Given the description of an element on the screen output the (x, y) to click on. 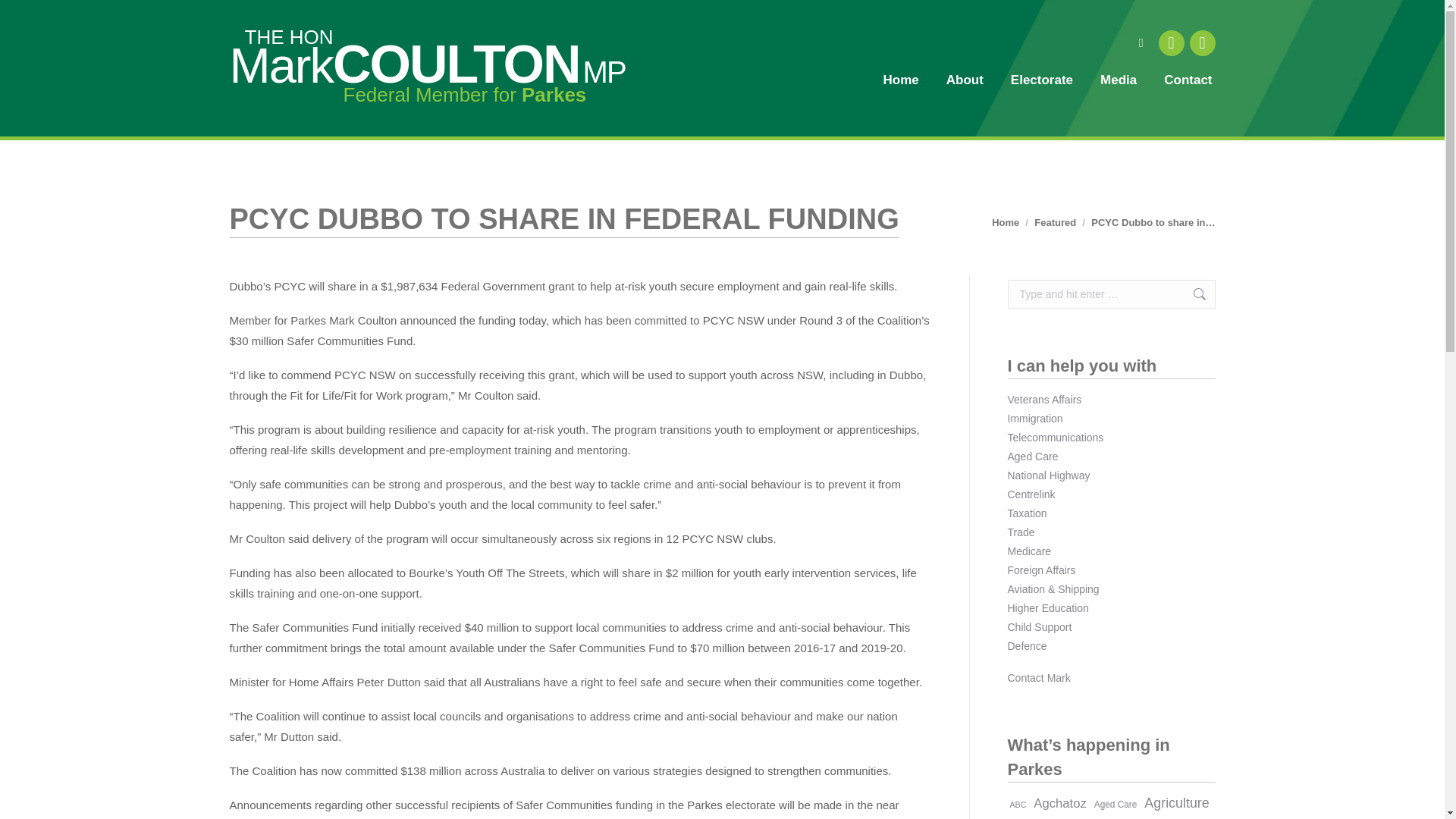
Mail page opens in new window (1201, 43)
Mail page opens in new window (1201, 43)
Home (1005, 222)
Facebook page opens in new window (1171, 43)
Go! (1191, 294)
Go! (24, 16)
Featured (1054, 222)
Go! (1191, 294)
Facebook page opens in new window (1171, 43)
